Given the description of an element on the screen output the (x, y) to click on. 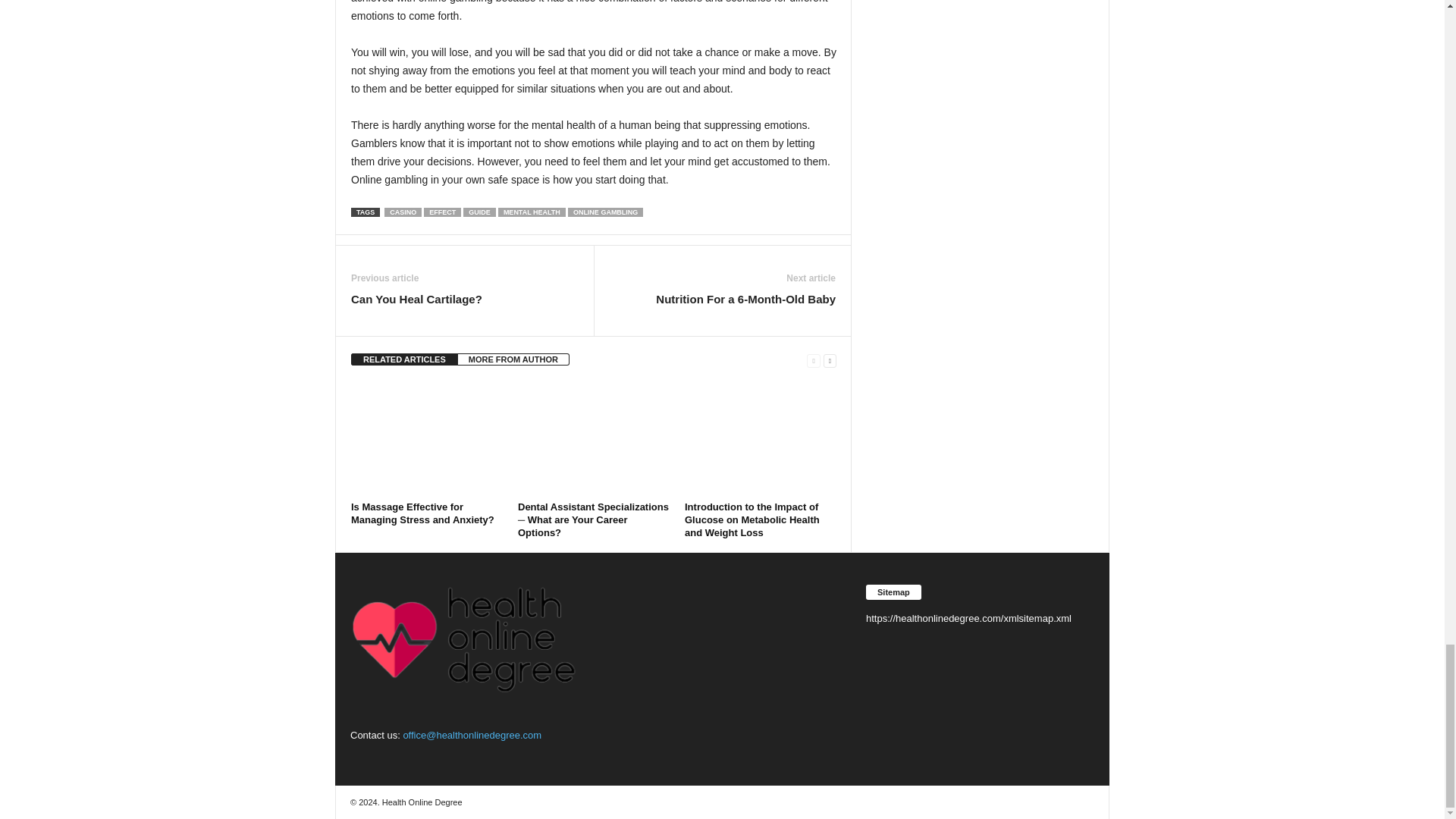
CASINO (403, 212)
Is Massage Effective for Managing Stress and Anxiety? (426, 439)
ONLINE GAMBLING (605, 212)
Can You Heal Cartilage? (415, 299)
EFFECT (442, 212)
Nutrition For a 6-Month-Old Baby (745, 299)
MENTAL HEALTH (531, 212)
RELATED ARTICLES (404, 358)
GUIDE (479, 212)
